Given the description of an element on the screen output the (x, y) to click on. 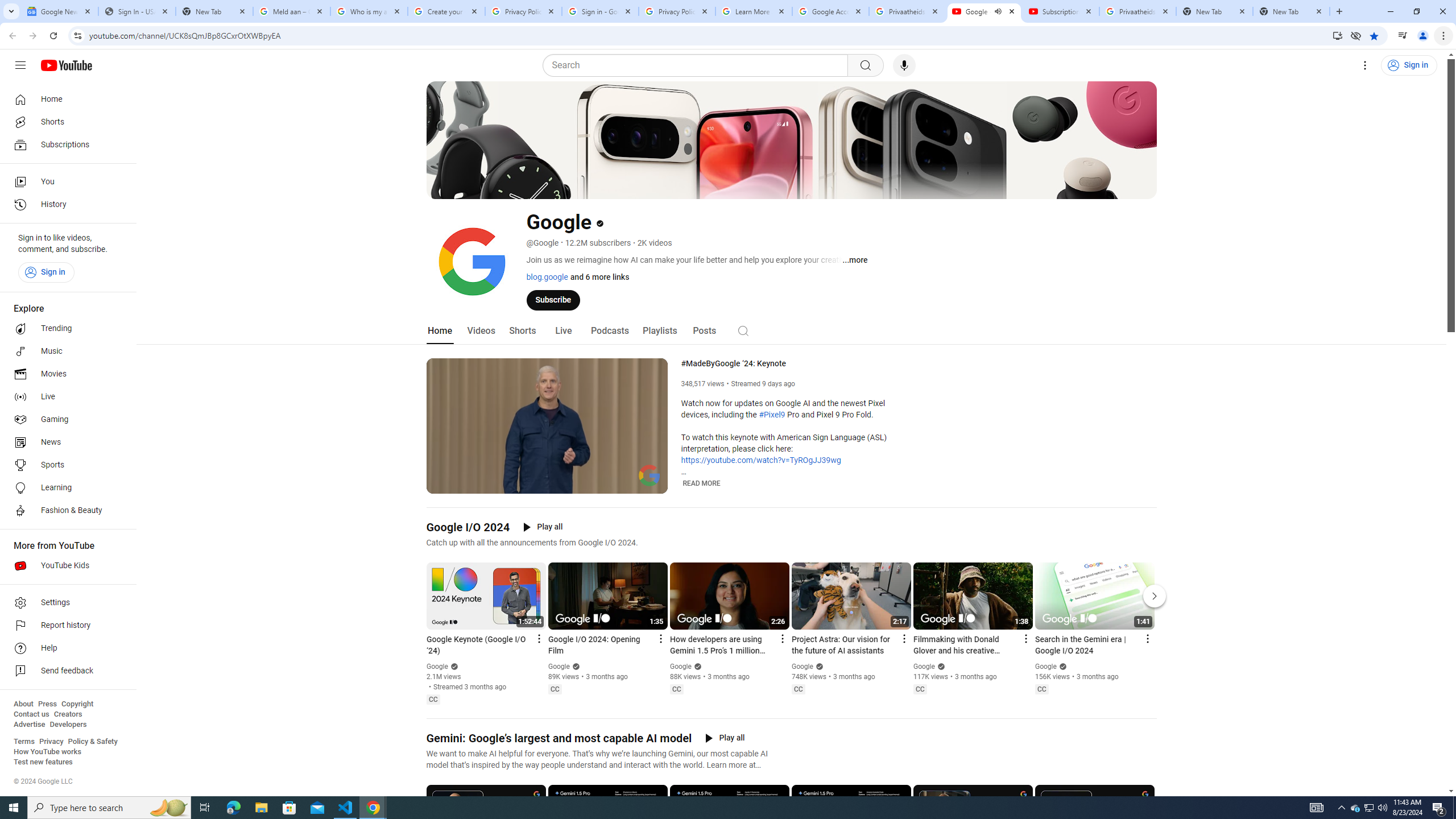
Pause (k) (443, 483)
New Tab (213, 11)
Copyright (77, 703)
READ MORE (701, 483)
Fashion & Beauty (64, 510)
Shorts (521, 330)
Closed captions (1041, 688)
